Given the description of an element on the screen output the (x, y) to click on. 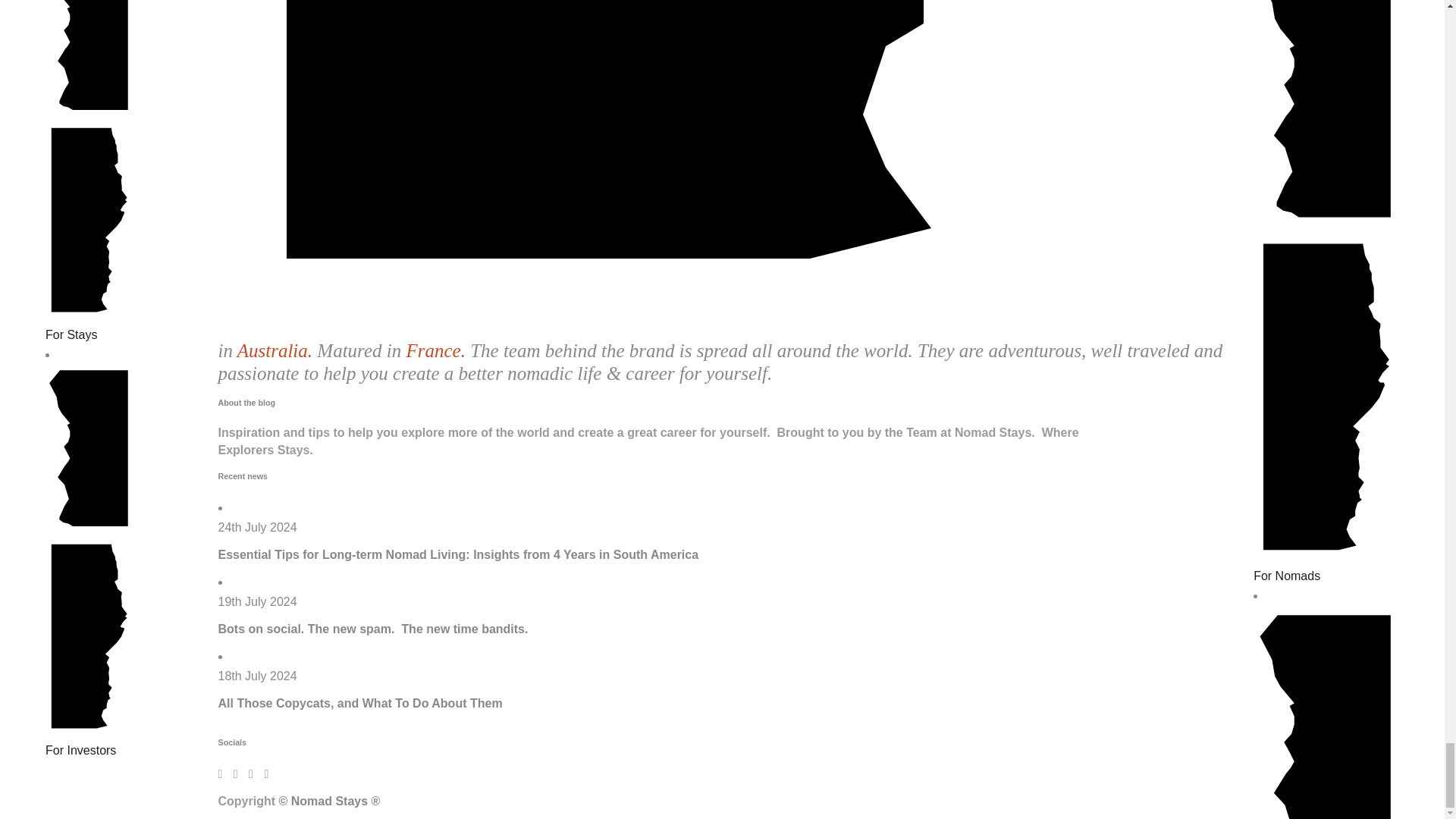
18th July 2024 (257, 675)
All Those Copycats, and What To Do About Them (360, 703)
Bots on social. The new spam.  The new time bandits. (373, 628)
19th July 2024 (257, 601)
All Those Copycats, and What To Do About Them (360, 703)
24th July 2024 (257, 526)
